Given the description of an element on the screen output the (x, y) to click on. 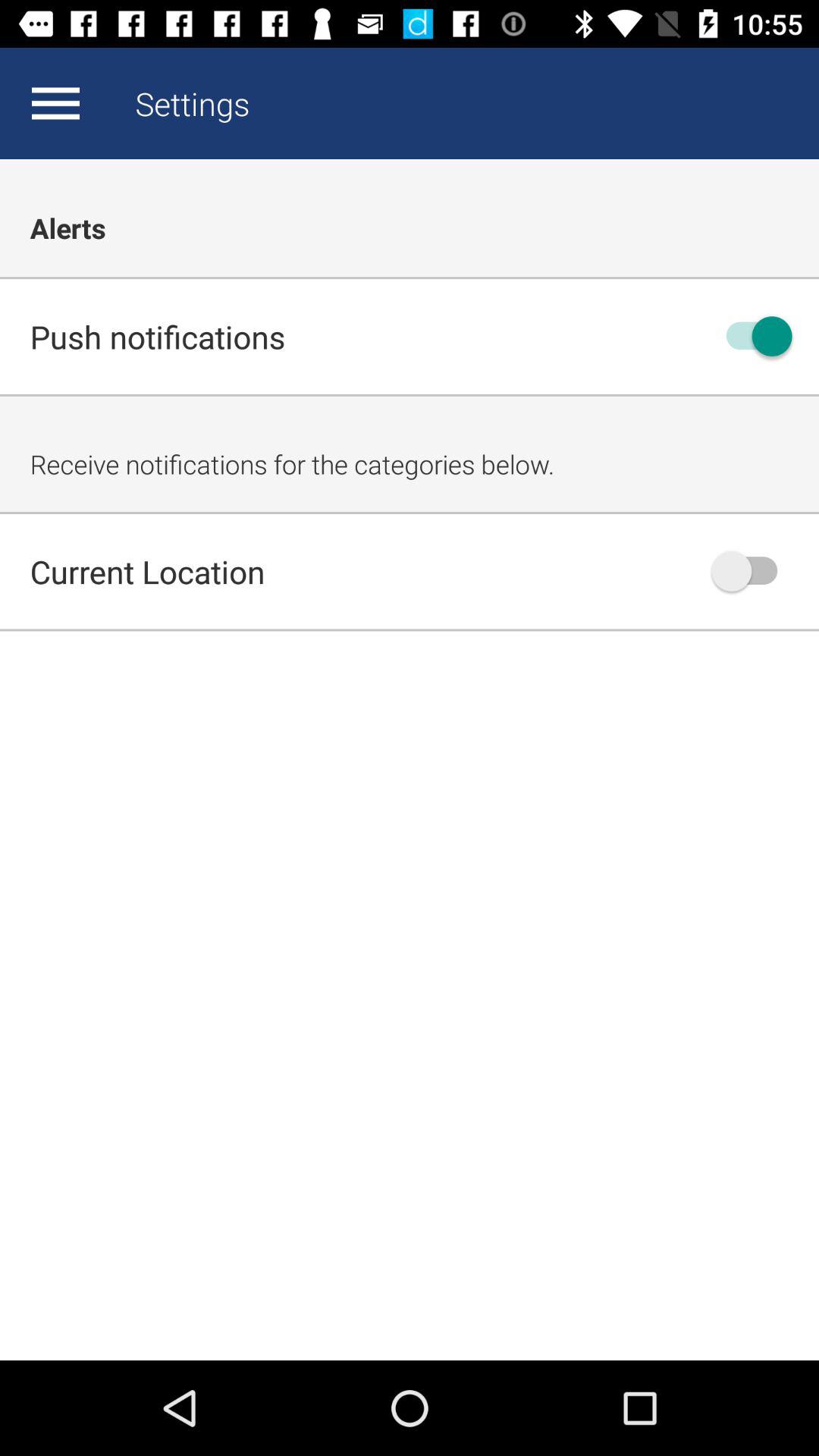
press the app next to the settings item (55, 103)
